Given the description of an element on the screen output the (x, y) to click on. 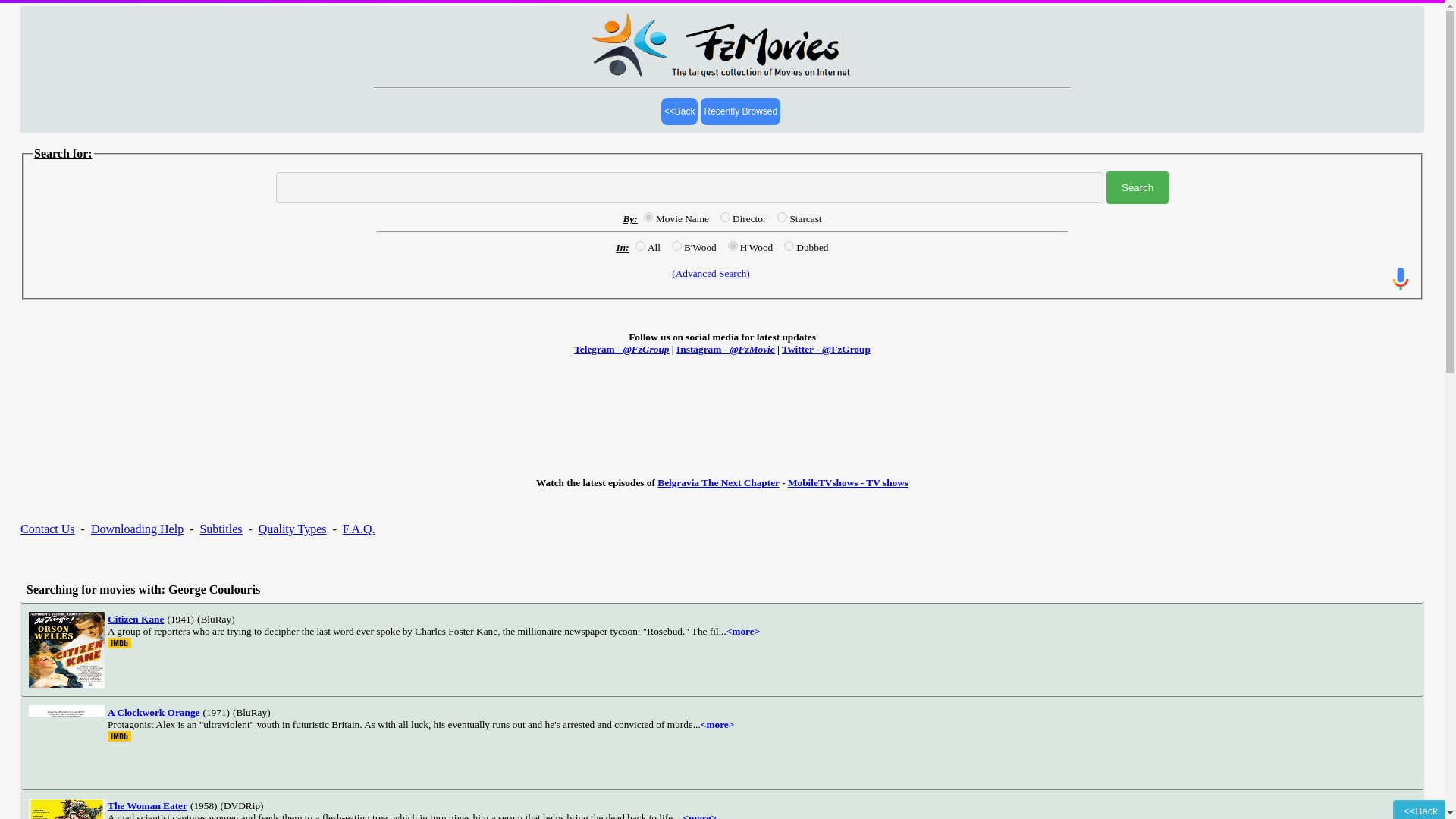
Contact Us (47, 528)
Bollywood (676, 245)
The Woman Eater (147, 804)
Belgravia The Next Chapter (718, 482)
Recently Browsed (740, 111)
Search (1137, 187)
All (639, 245)
Subtitles (220, 528)
Quality Types (292, 528)
Search (1137, 187)
